Given the description of an element on the screen output the (x, y) to click on. 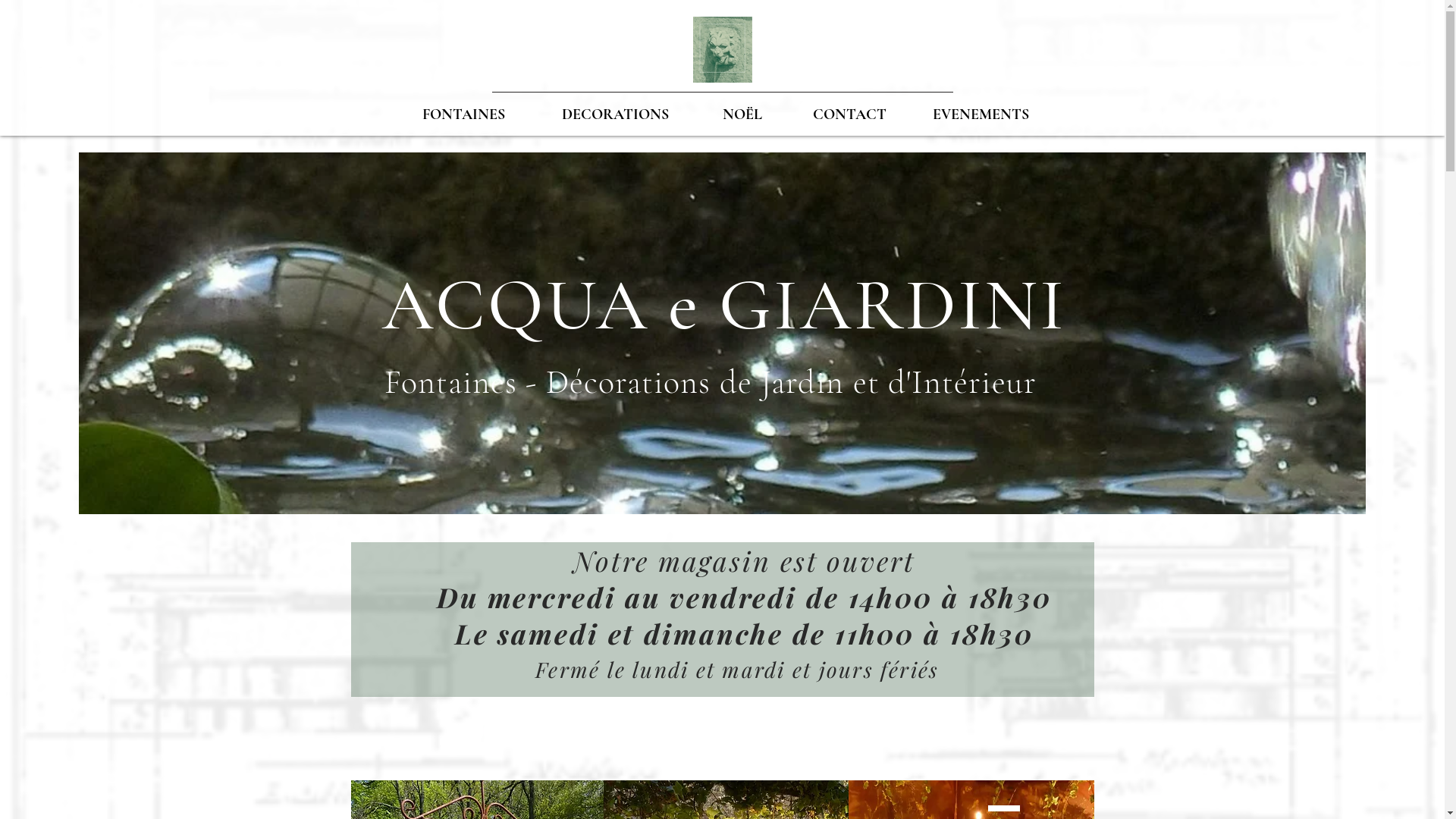
EVENEMENTS Element type: text (980, 114)
CONTACT Element type: text (849, 114)
FONTAINES Element type: text (462, 114)
DECORATIONS Element type: text (614, 114)
